Given the description of an element on the screen output the (x, y) to click on. 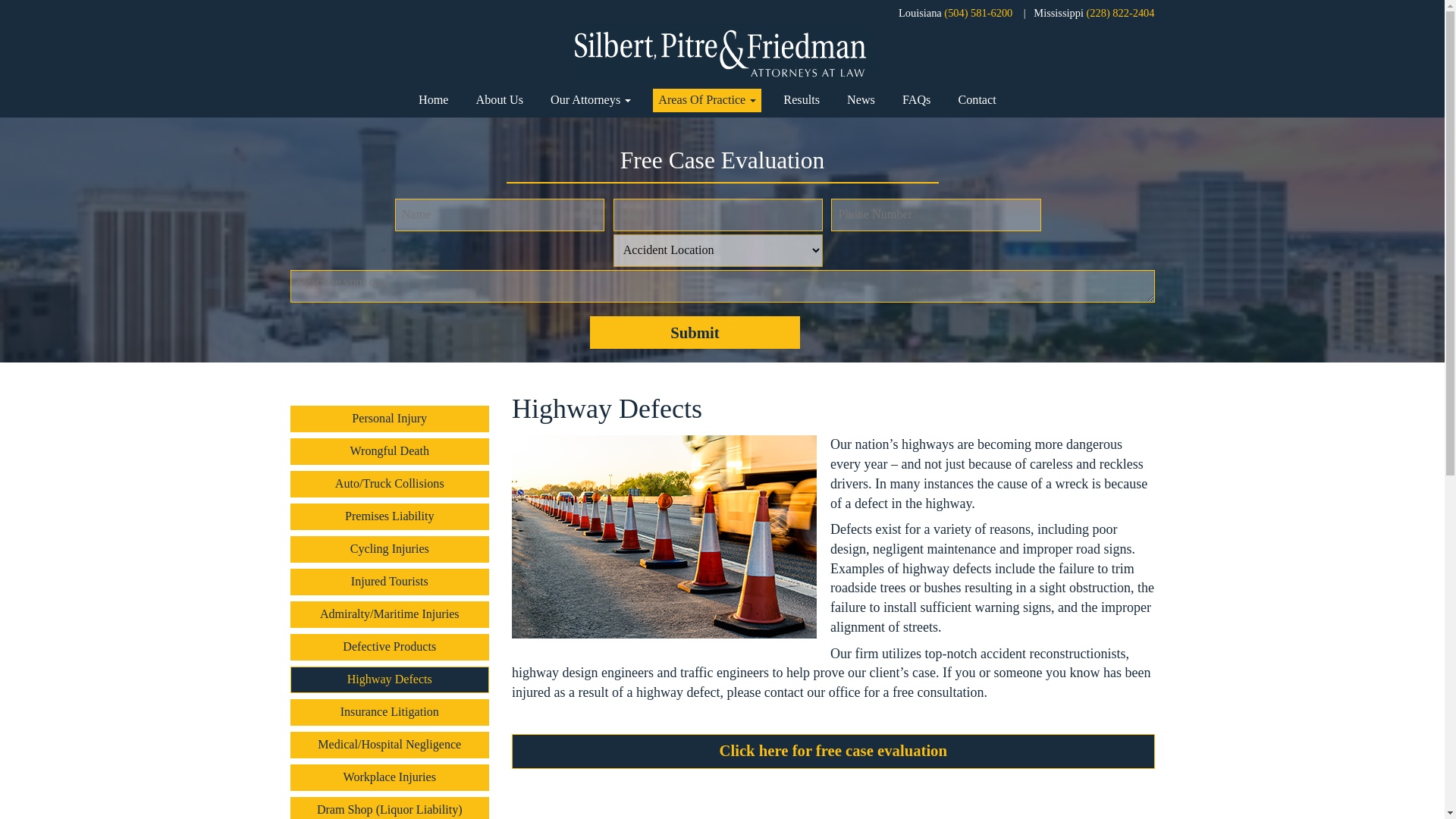
Submit (694, 332)
Mississippi (1058, 12)
Submit (694, 332)
Contact (976, 100)
News (860, 100)
Home (433, 100)
FAQs (916, 100)
Wrongful Death (389, 451)
Our Attorneys (590, 100)
Areas of Practice (706, 100)
About Us (499, 100)
Results (801, 100)
Areas Of Practice (706, 100)
Louisiana (920, 12)
Home (433, 100)
